Given the description of an element on the screen output the (x, y) to click on. 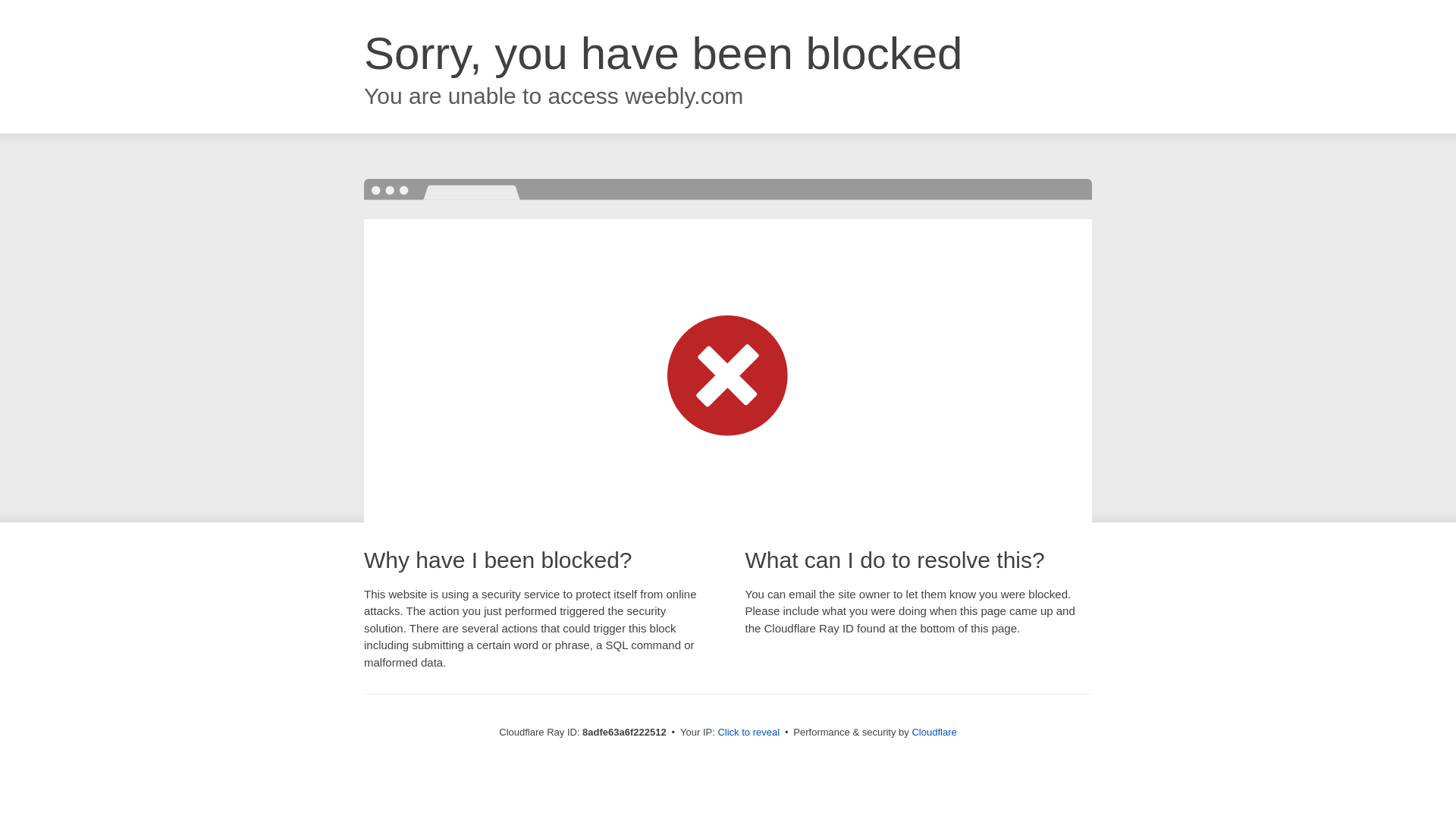
Cloudflare (933, 731)
Click to reveal (747, 732)
